Given the description of an element on the screen output the (x, y) to click on. 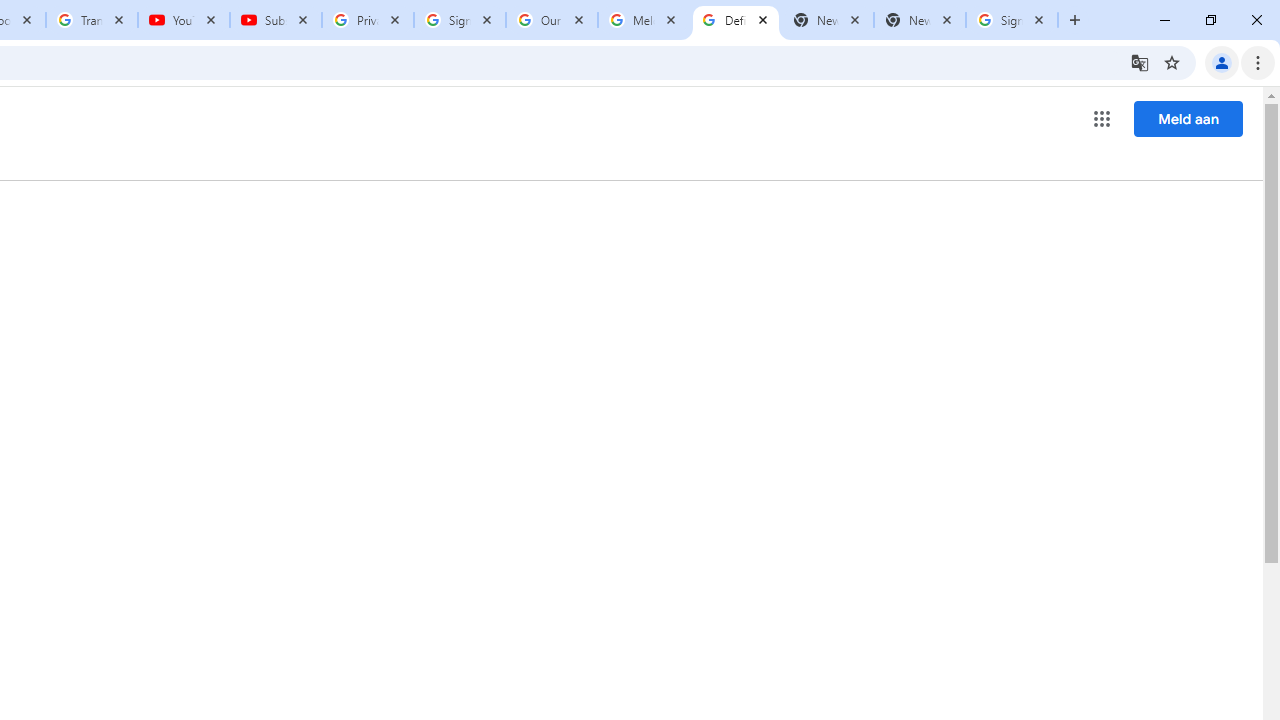
Google-programme (1101, 118)
Subscriptions - YouTube (276, 20)
Sign in - Google Accounts (459, 20)
YouTube (184, 20)
